Given the description of an element on the screen output the (x, y) to click on. 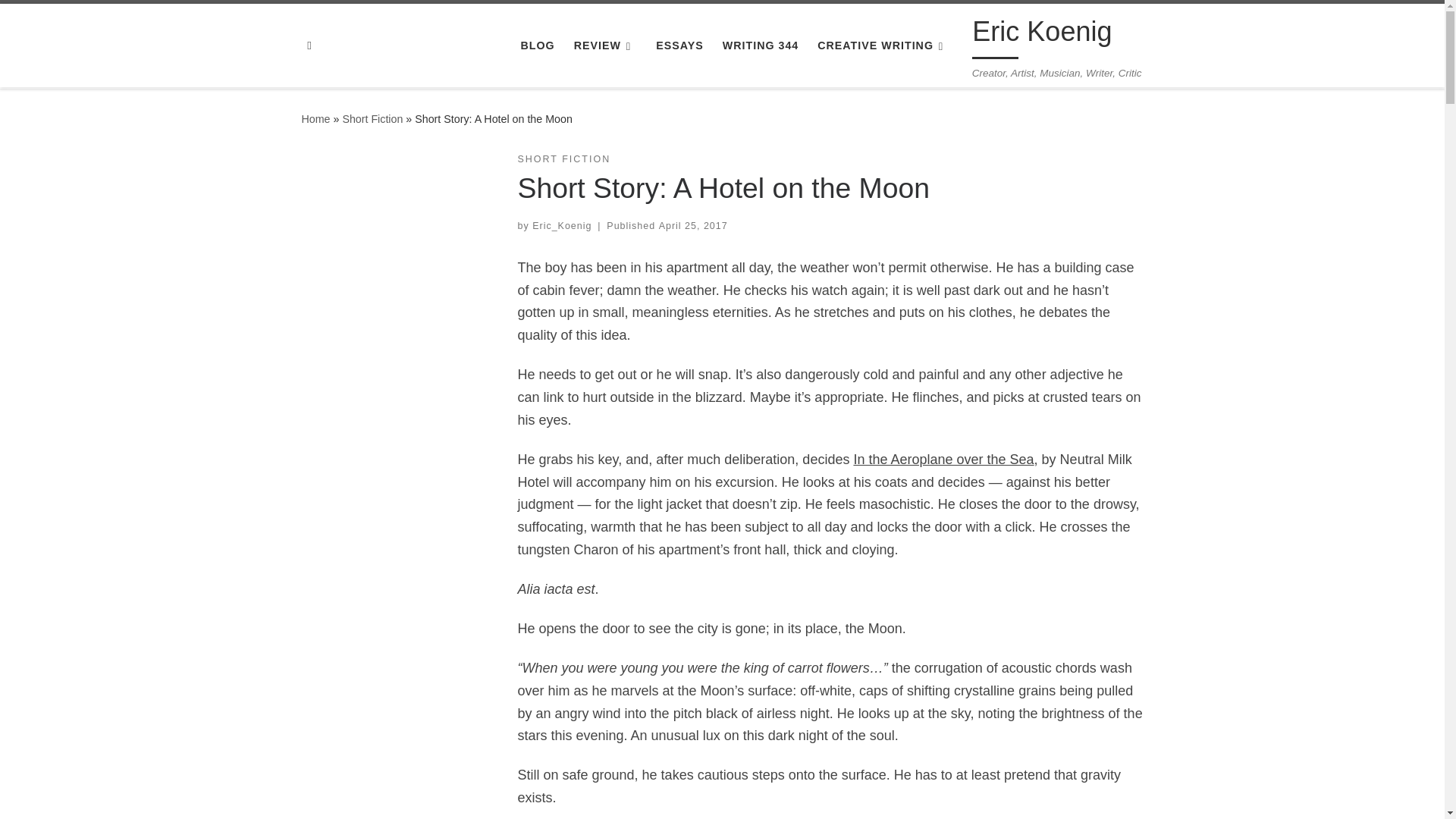
Eric Koenig (1042, 34)
SHORT FICTION (563, 159)
7:44 pm (693, 225)
BLOG (537, 45)
Short Fiction (372, 119)
View all posts in Short Fiction (563, 159)
REVIEW (605, 45)
WRITING 344 (760, 45)
Short Fiction (372, 119)
Eric Koenig (315, 119)
